Given the description of an element on the screen output the (x, y) to click on. 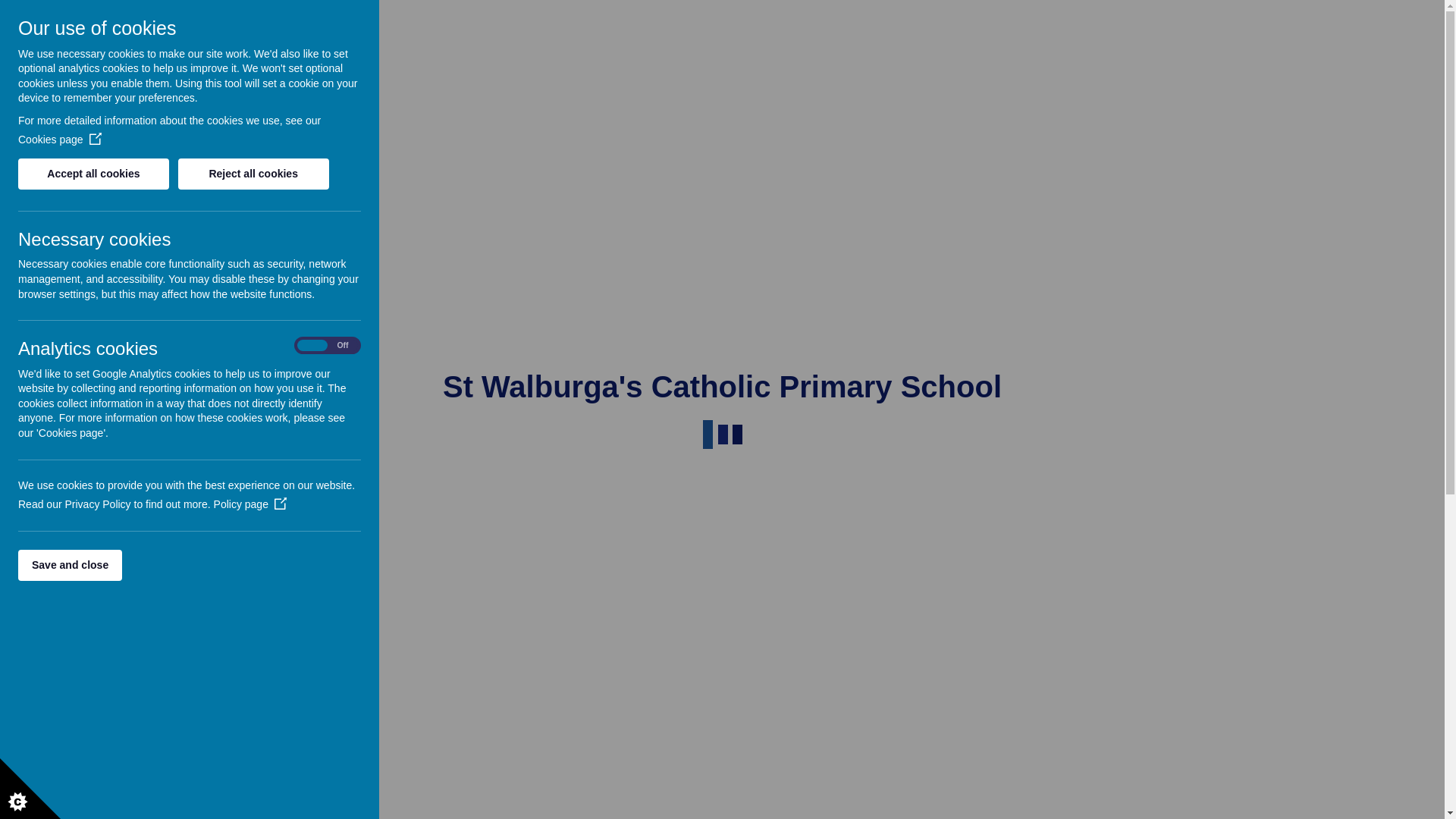
Twitter (1322, 17)
Cookie Control Icon (30, 788)
on (327, 345)
